Given the description of an element on the screen output the (x, y) to click on. 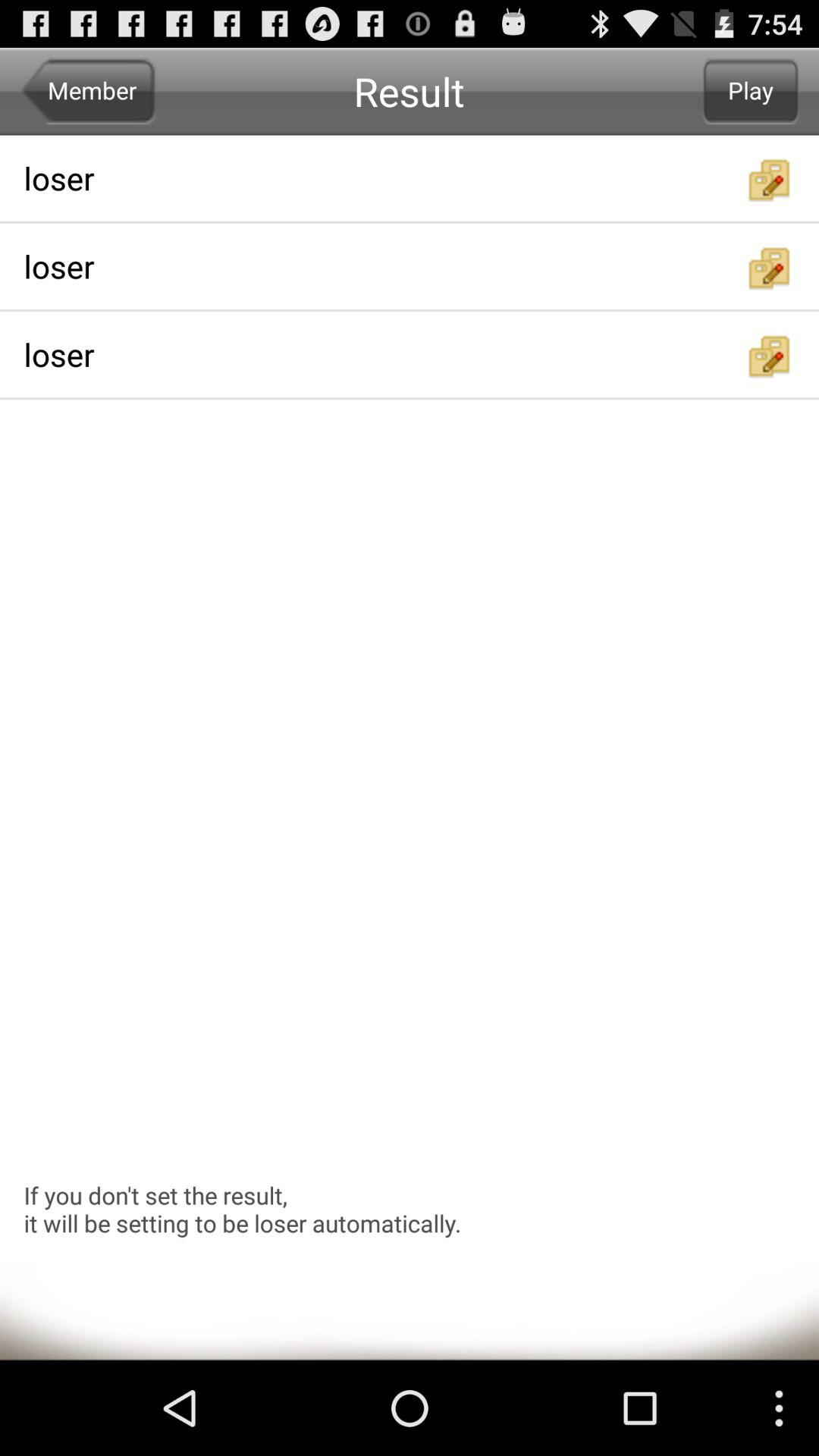
choose the member at the top left corner (87, 91)
